Given the description of an element on the screen output the (x, y) to click on. 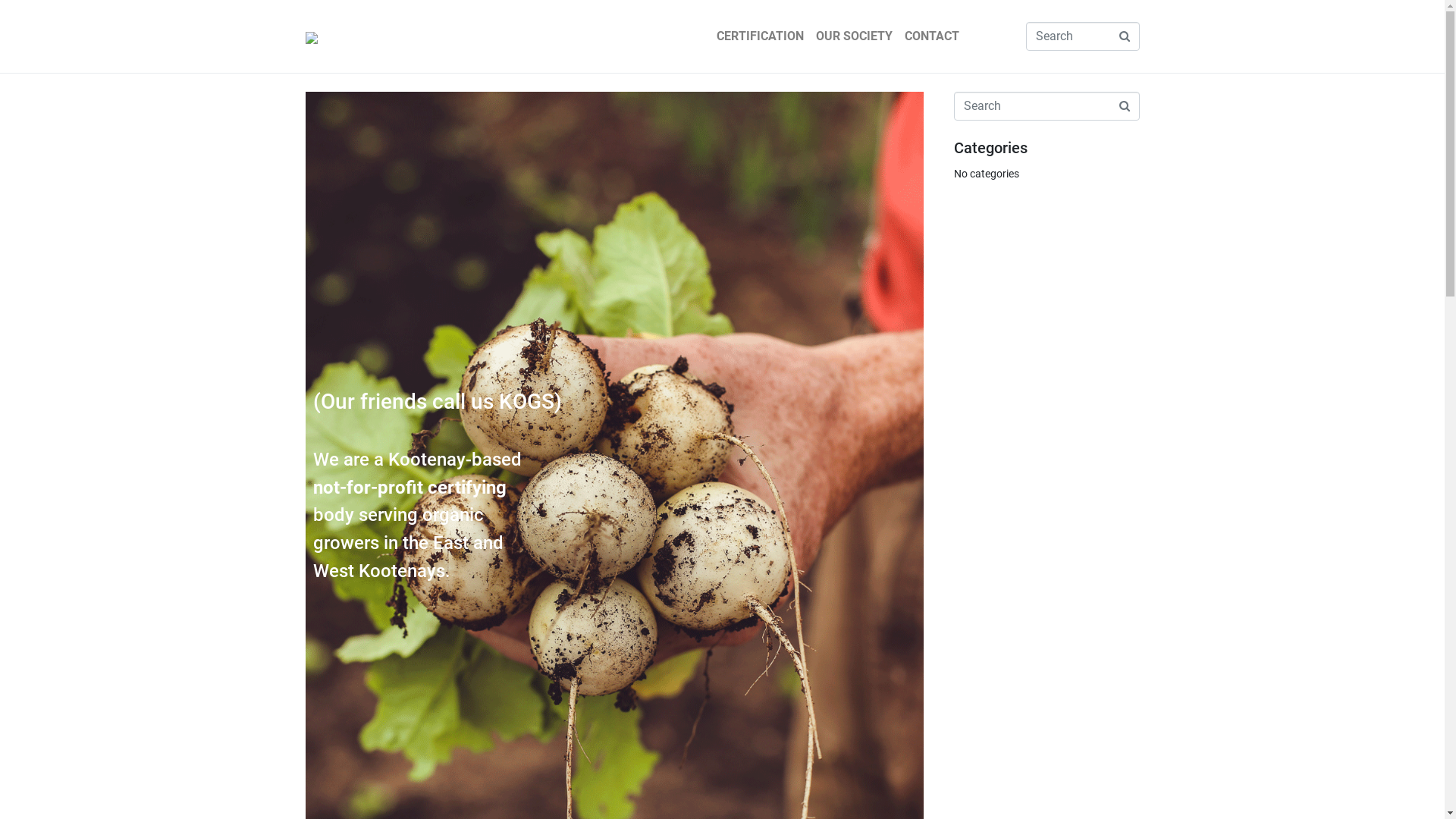
CERTIFICATION Element type: text (759, 36)
OUR SOCIETY Element type: text (853, 36)
CONTACT Element type: text (930, 36)
